Given the description of an element on the screen output the (x, y) to click on. 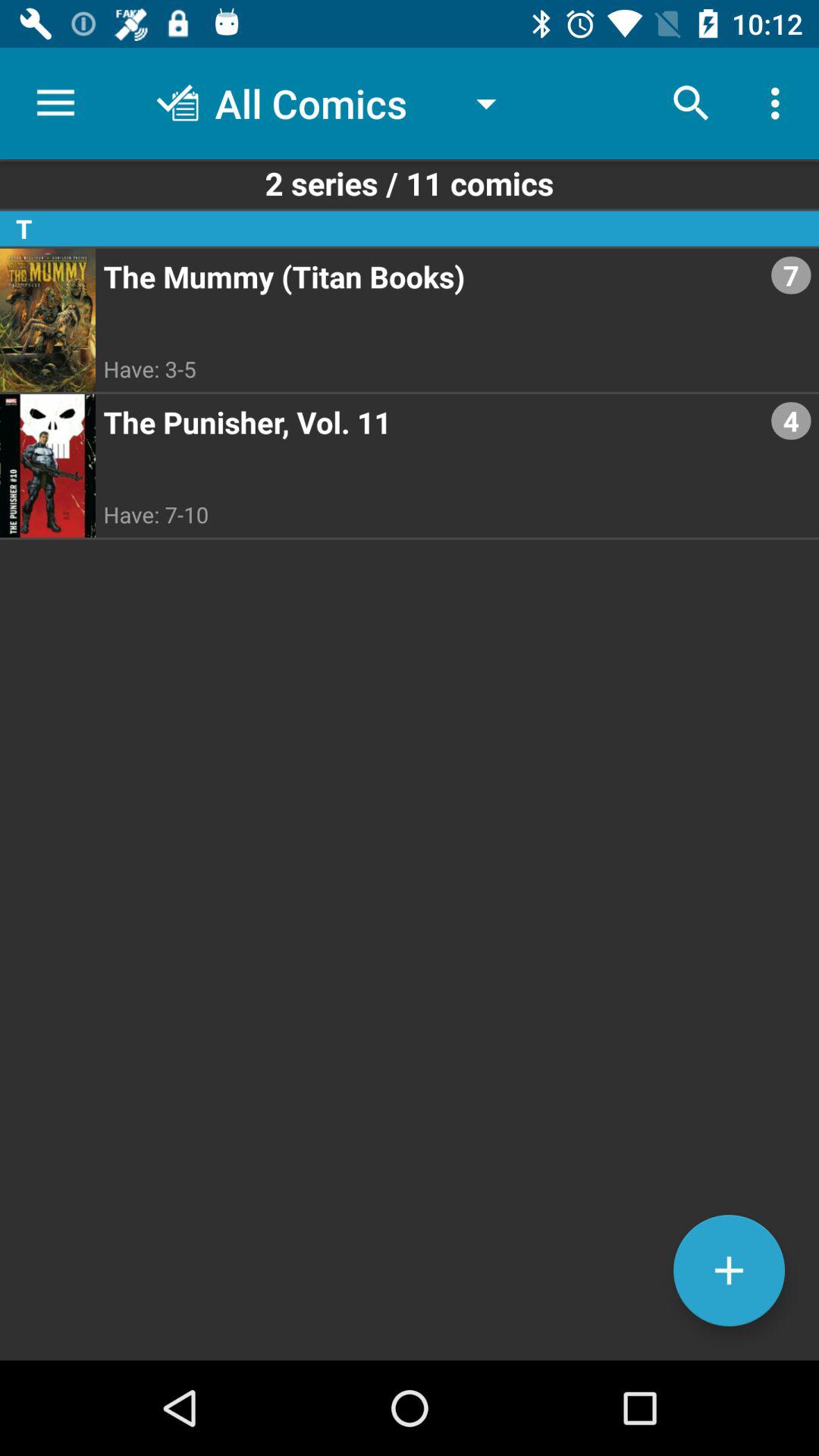
all contact open (728, 1270)
